Given the description of an element on the screen output the (x, y) to click on. 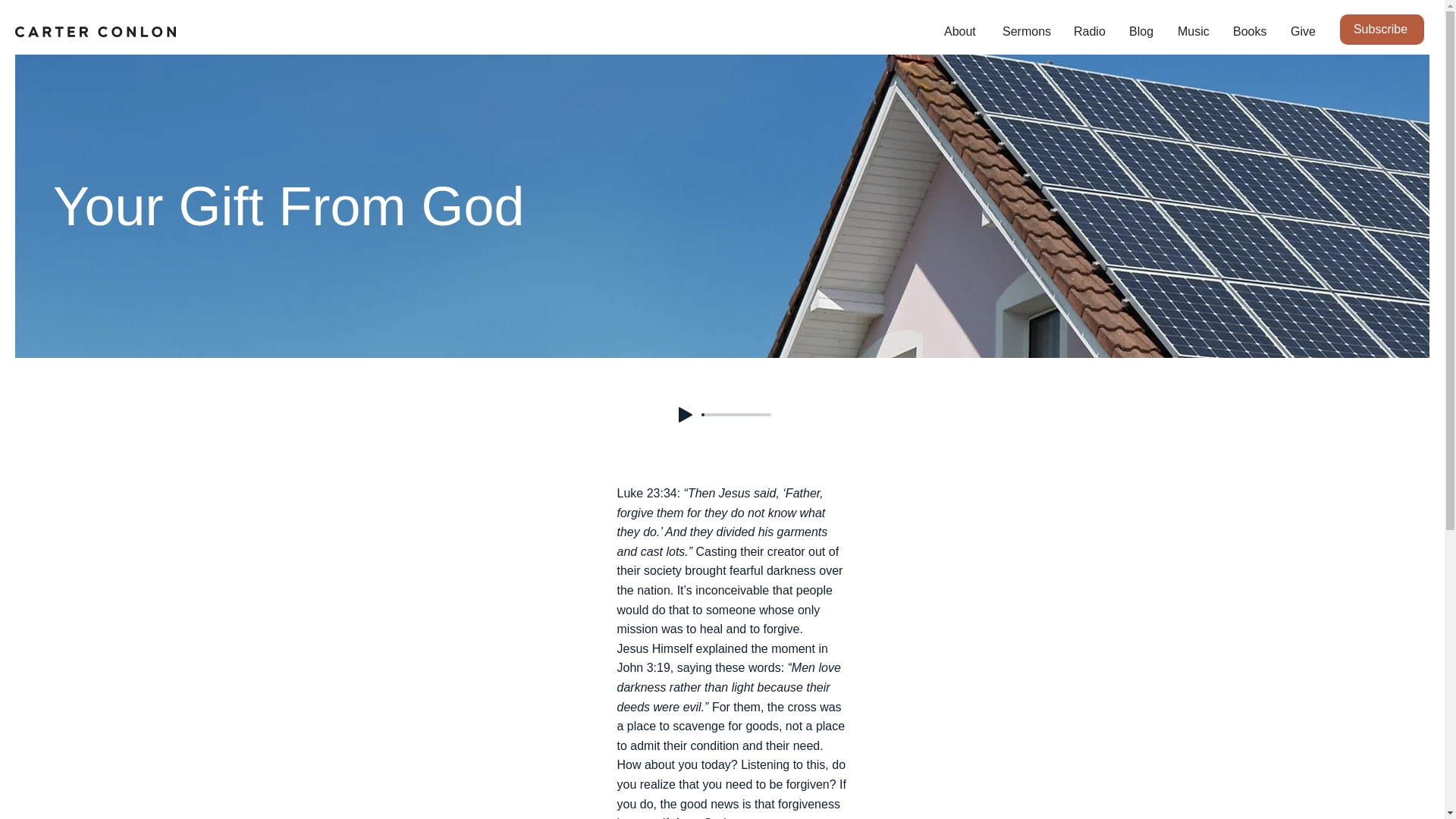
Music (1193, 31)
Subscribe (1381, 29)
Books (1250, 31)
About (962, 31)
0 (735, 414)
Radio (1090, 31)
Blog (1142, 31)
Sermons (1026, 31)
Give (1302, 31)
